Given the description of an element on the screen output the (x, y) to click on. 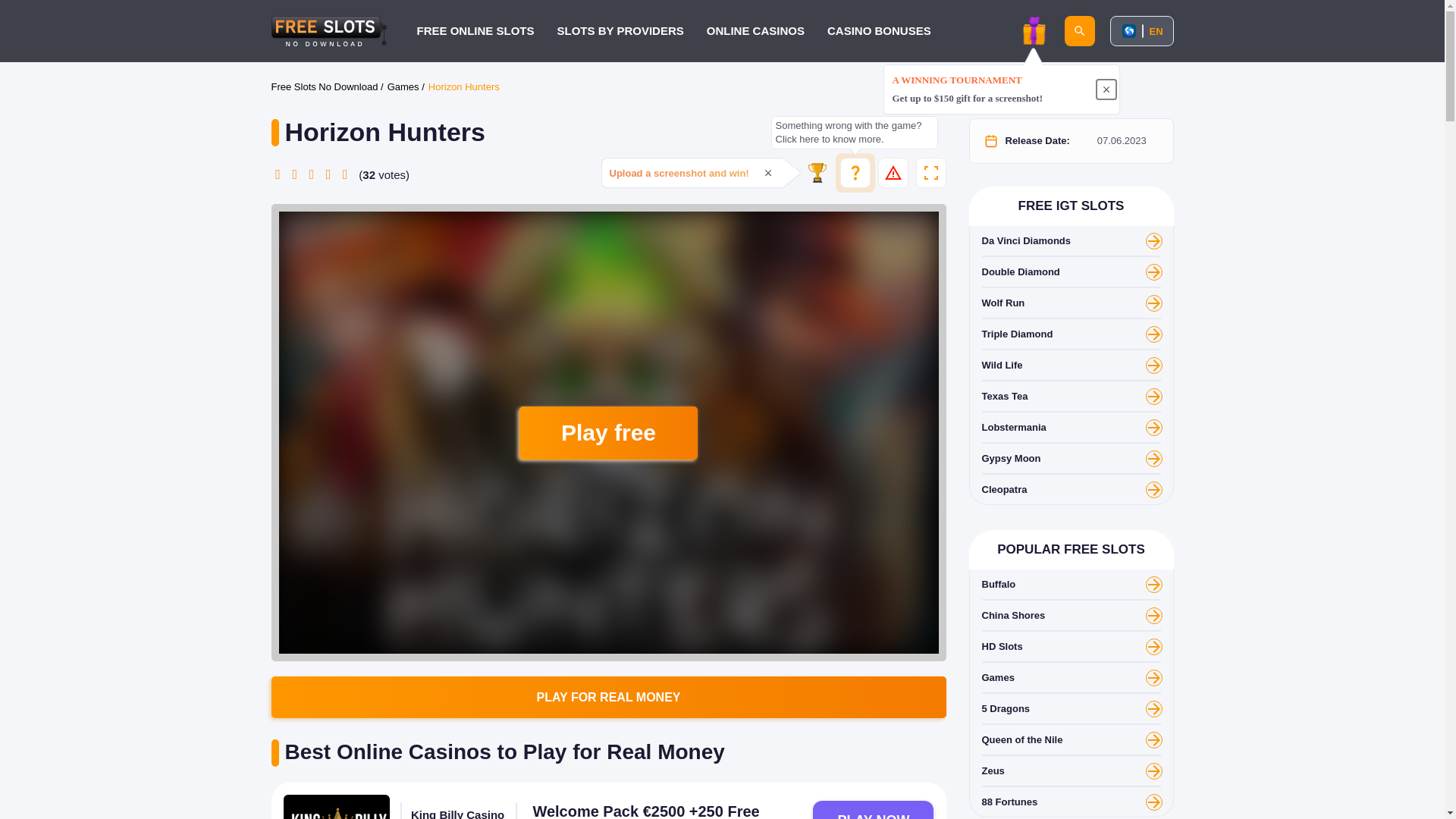
Bug Report (892, 173)
FREE ONLINE SLOTS (475, 30)
Full Screen (930, 173)
